Given the description of an element on the screen output the (x, y) to click on. 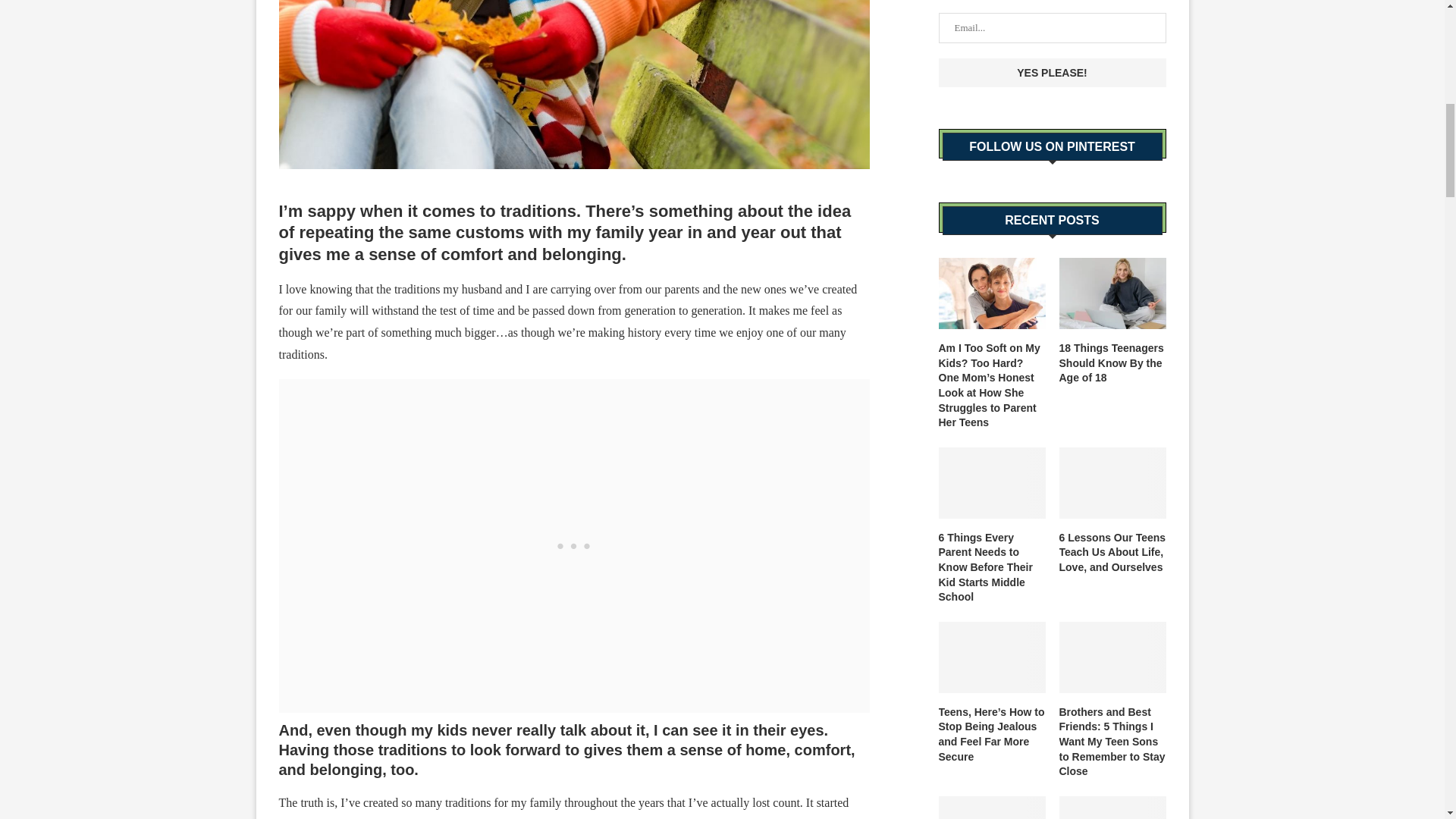
Teen 99 (574, 84)
Yes Please! (1052, 72)
